Given the description of an element on the screen output the (x, y) to click on. 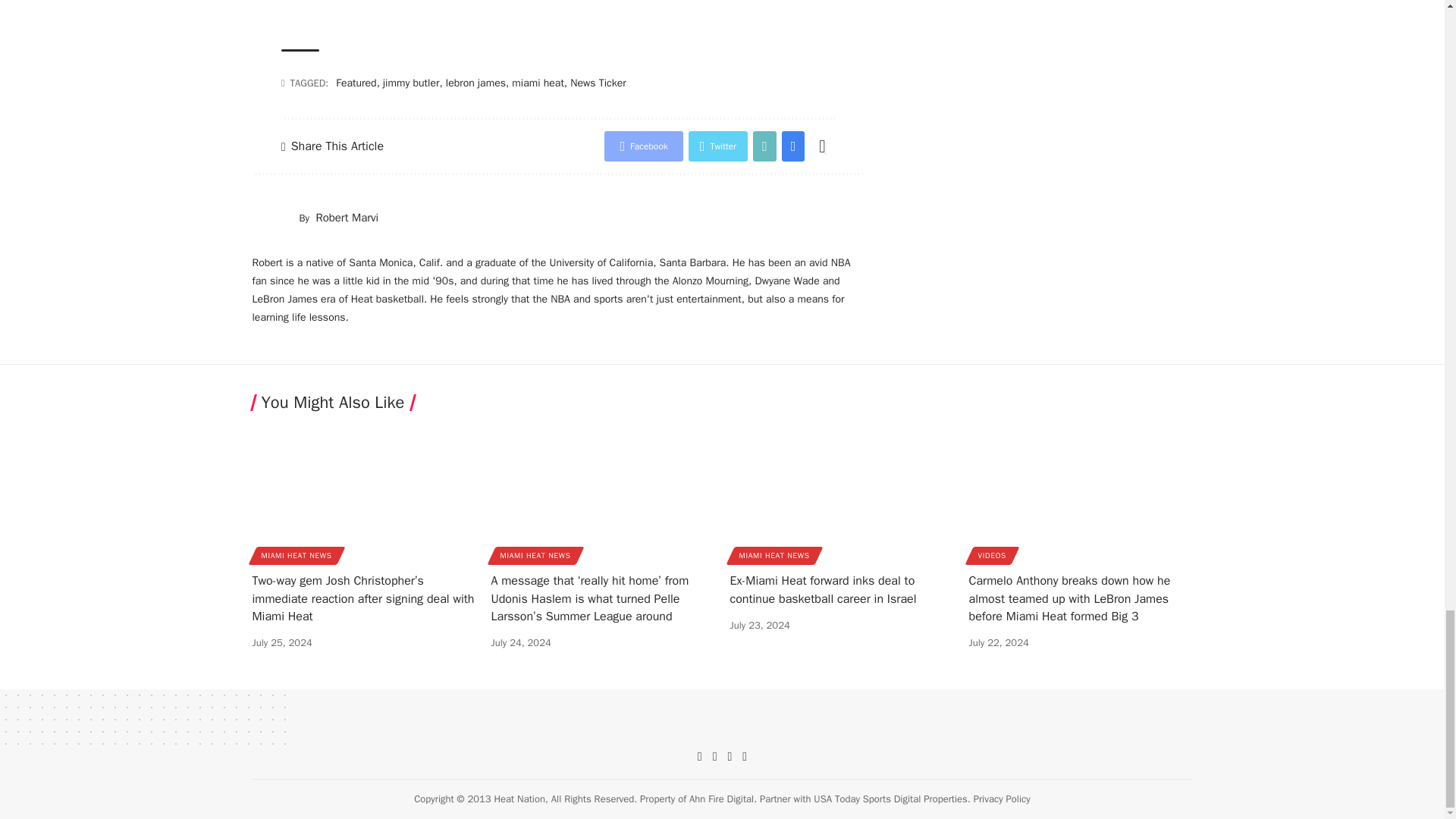
jimmy butler (410, 82)
Featured (355, 82)
